Given the description of an element on the screen output the (x, y) to click on. 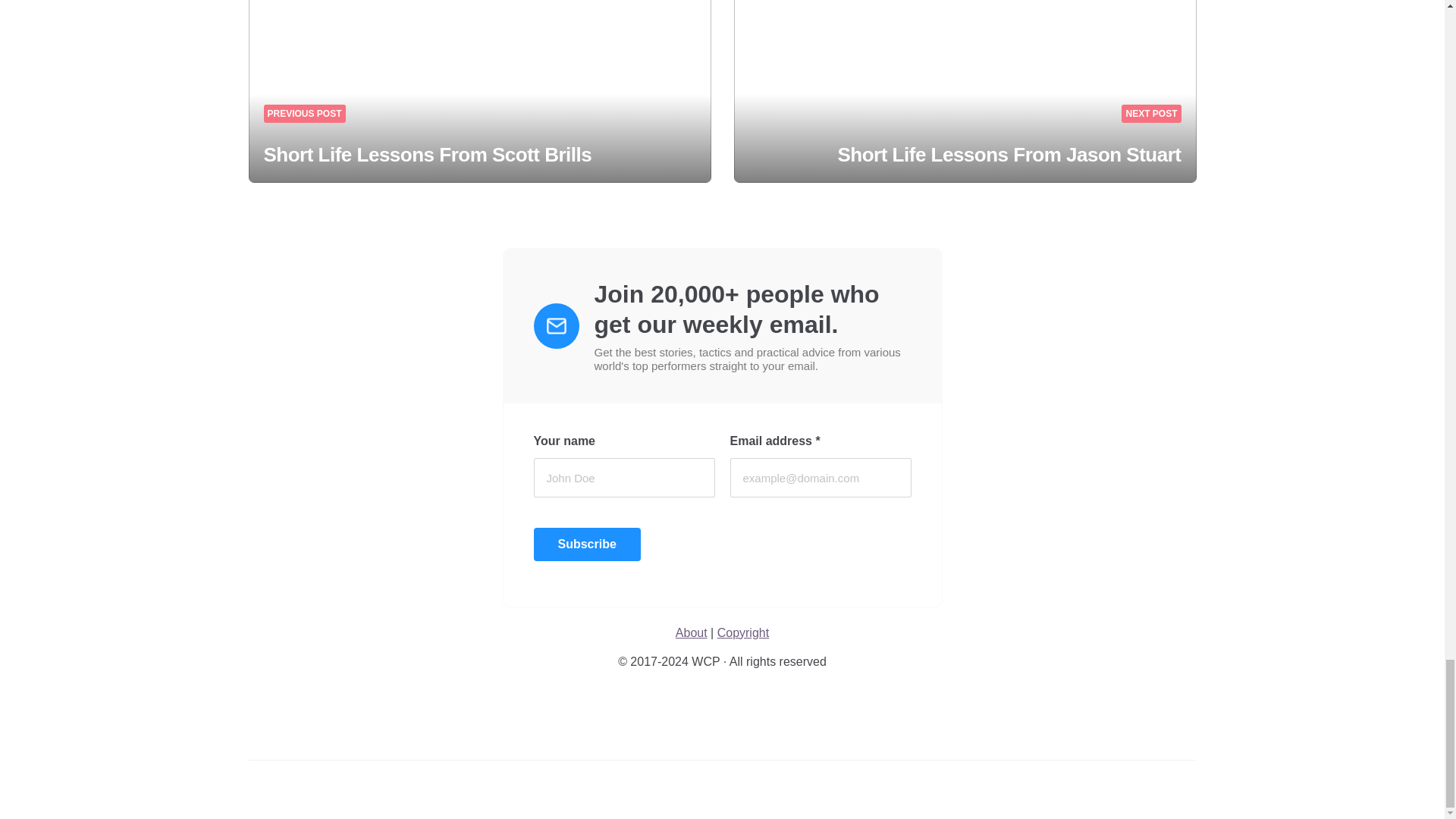
Copyright (742, 632)
About (691, 632)
Short Life Lessons From Jason Stuart (1009, 154)
Short Life Lessons From Scott Brills (427, 154)
